Given the description of an element on the screen output the (x, y) to click on. 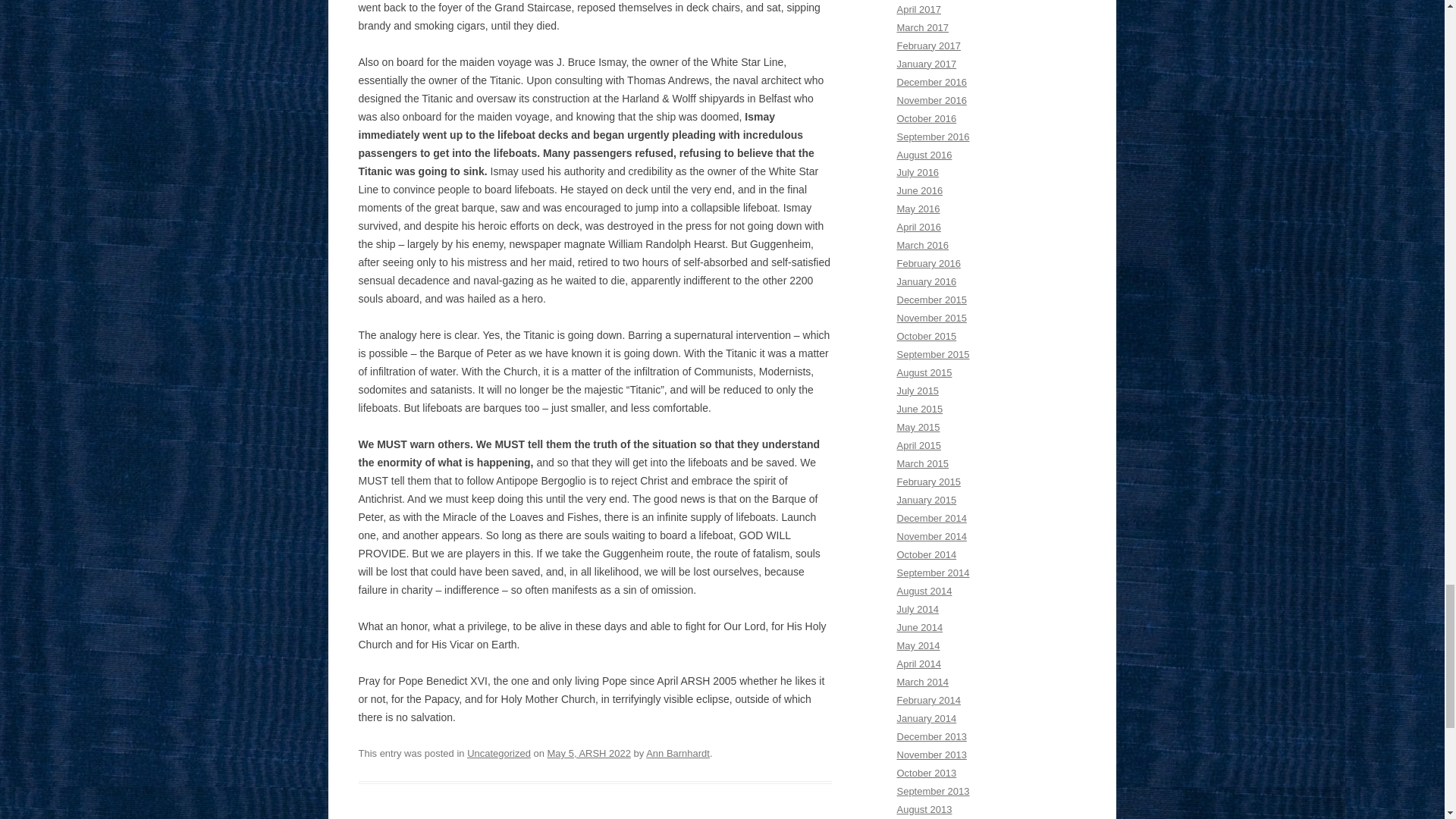
View all posts by Ann Barnhardt (678, 753)
May 5, ARSH 2022 (588, 753)
5:28 am (588, 753)
Uncategorized (499, 753)
Ann Barnhardt (678, 753)
